Given the description of an element on the screen output the (x, y) to click on. 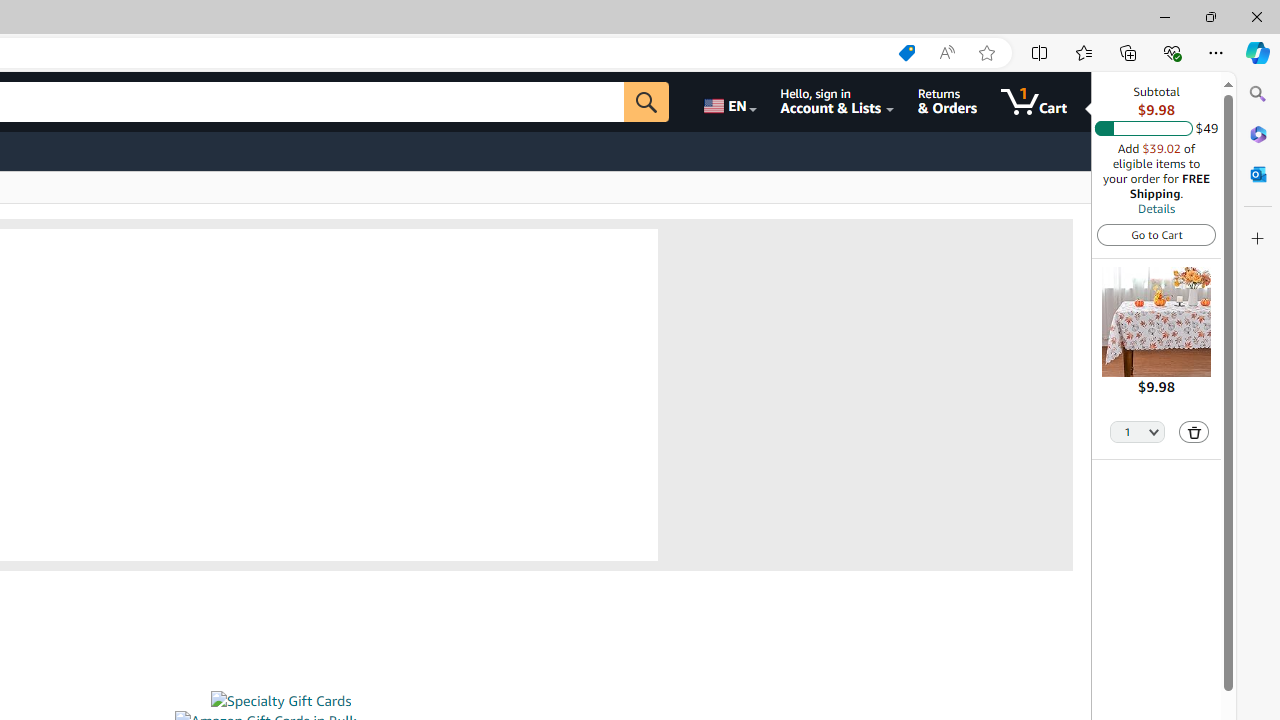
Returns & Orders (946, 101)
Quantity Selector (1137, 430)
Go to Cart (1156, 234)
1 item in cart (1034, 101)
